Given the description of an element on the screen output the (x, y) to click on. 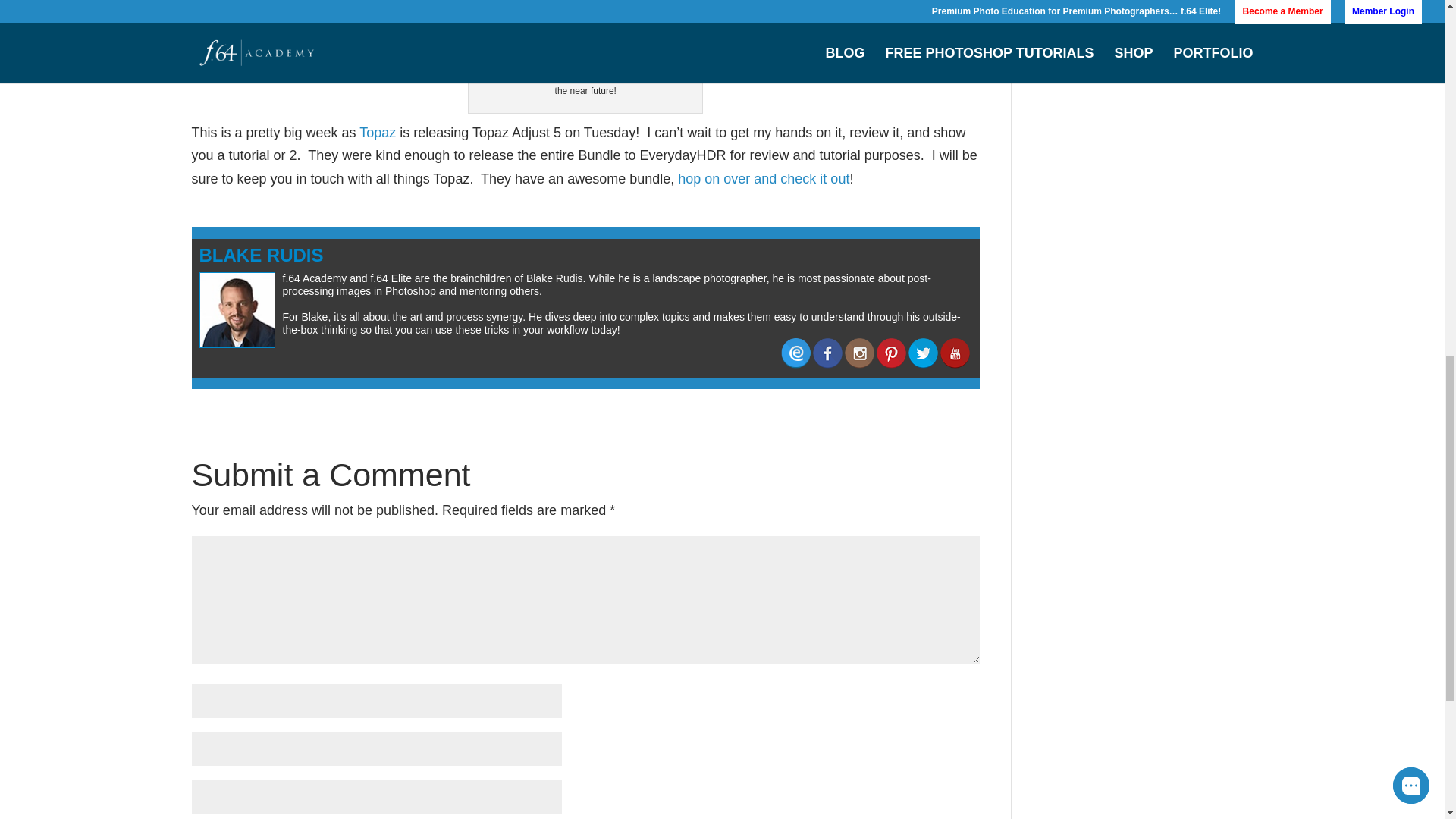
hop on over and check it out (761, 178)
Blake Rudis (260, 254)
Topaz (377, 132)
BLAKE RUDIS (260, 254)
